Given the description of an element on the screen output the (x, y) to click on. 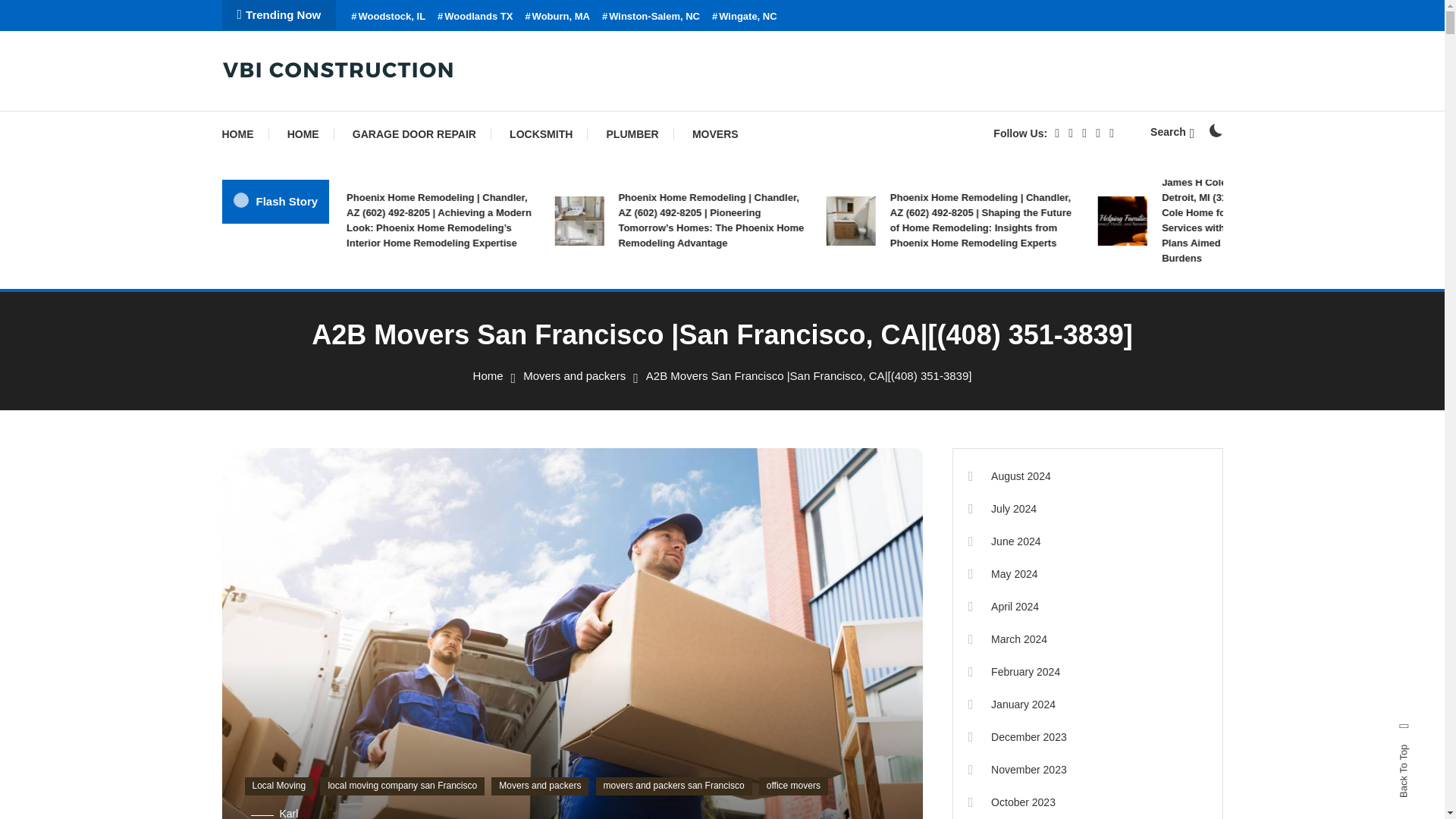
Woodstock, IL (387, 16)
Search (1171, 132)
Woodlands TX (475, 16)
GARAGE DOOR REPAIR (414, 134)
Wingate, NC (744, 16)
MOVERS (715, 134)
Winston-Salem, NC (651, 16)
PLUMBER (632, 134)
HOME (303, 134)
HOME (244, 134)
